Given the description of an element on the screen output the (x, y) to click on. 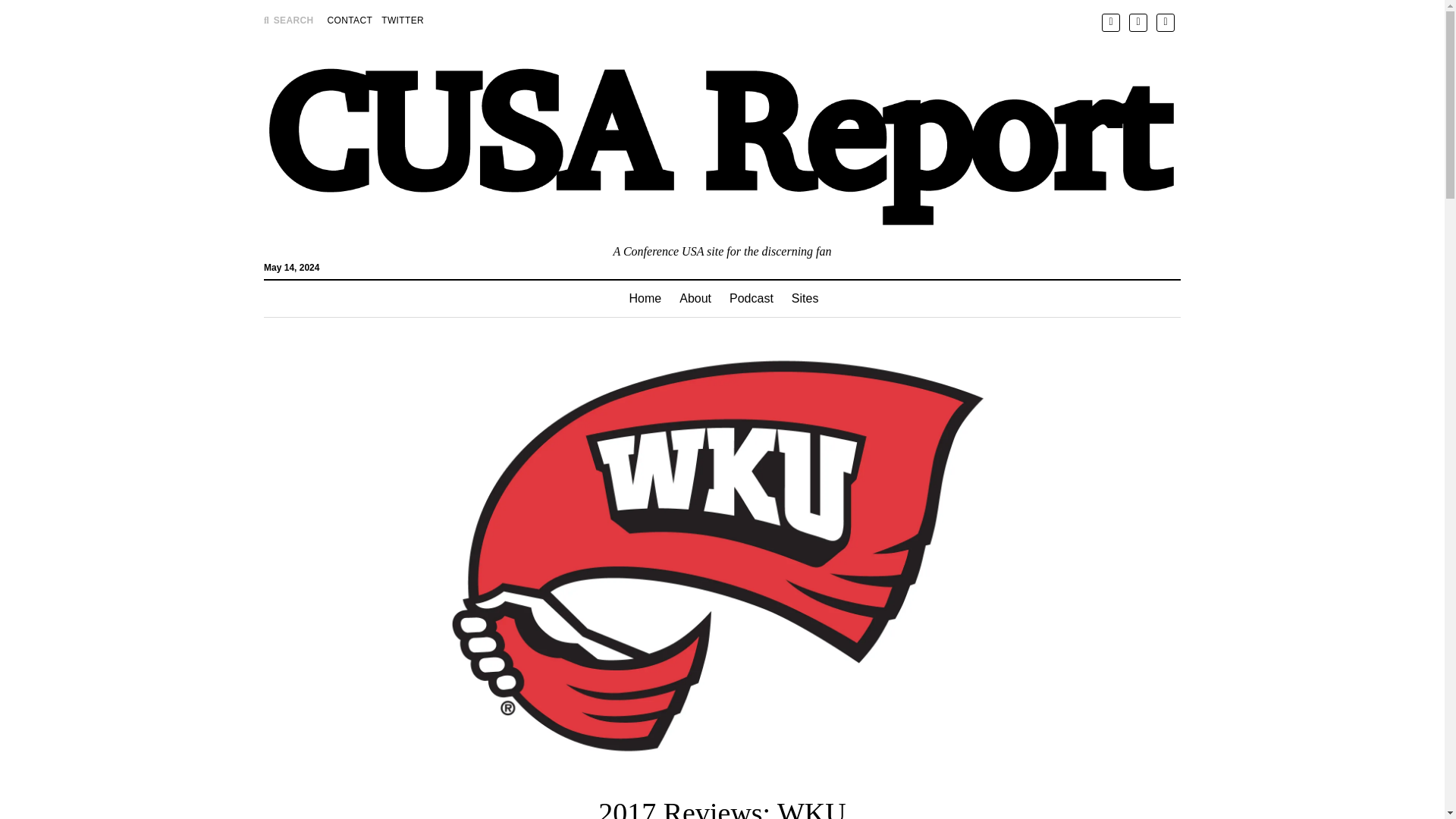
Home (645, 298)
SEARCH (288, 20)
About (694, 298)
Sites (805, 298)
Search (945, 129)
CONTACT (349, 20)
TWITTER (402, 20)
Podcast (751, 298)
